Given the description of an element on the screen output the (x, y) to click on. 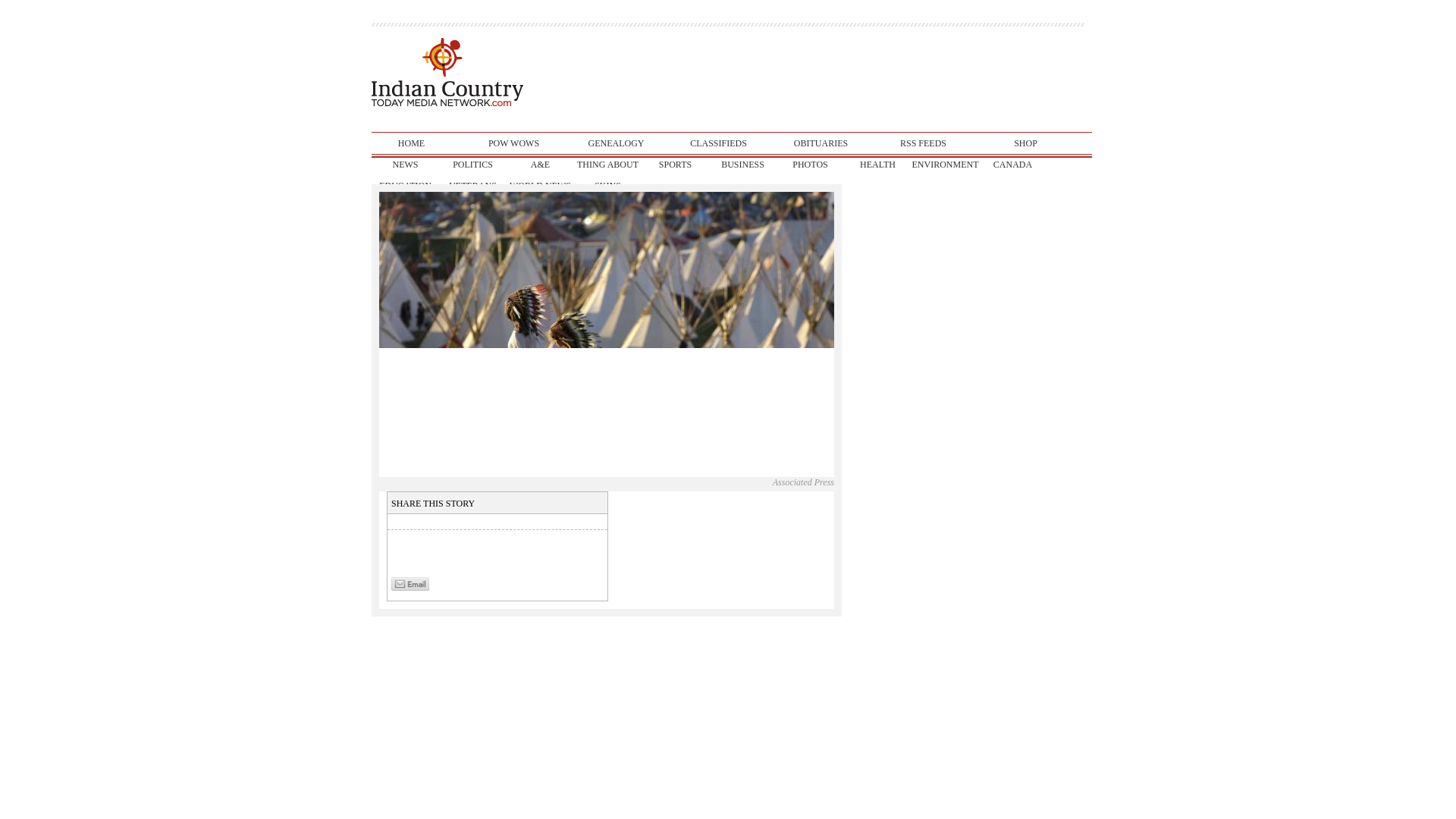
OBITUARIES (820, 142)
POLITICS (472, 164)
CANADA (1012, 164)
POW WOWS (513, 142)
PHOTOS (810, 164)
HEALTH (877, 164)
VETERANS (472, 185)
THING ABOUT SKINS (607, 164)
ENVIRONMENT (944, 164)
BUSINESS (742, 164)
GENEALOGY (616, 142)
EDUCATION (405, 185)
NEWS (405, 164)
